Given the description of an element on the screen output the (x, y) to click on. 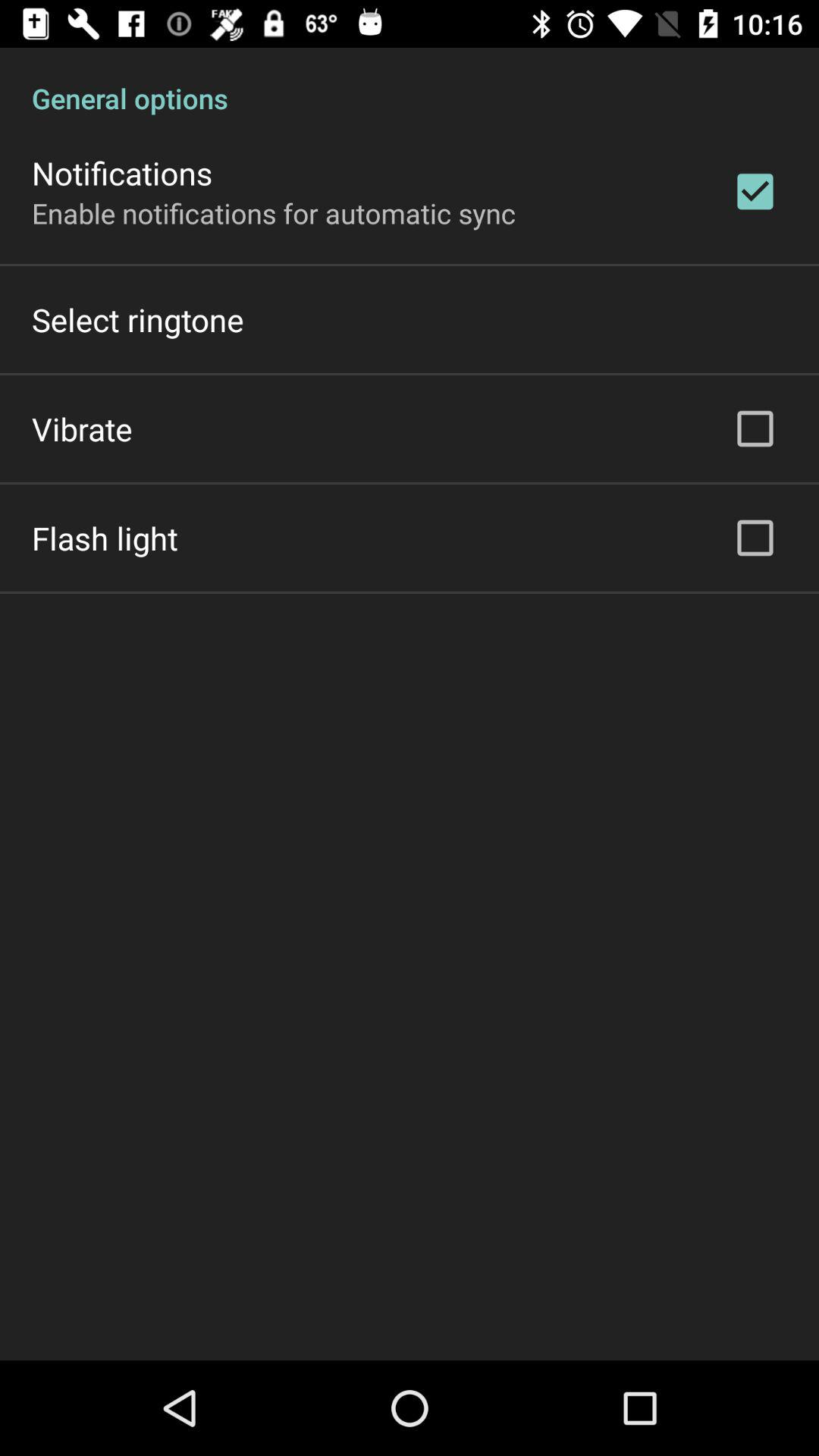
choose item above the select ringtone (273, 213)
